Given the description of an element on the screen output the (x, y) to click on. 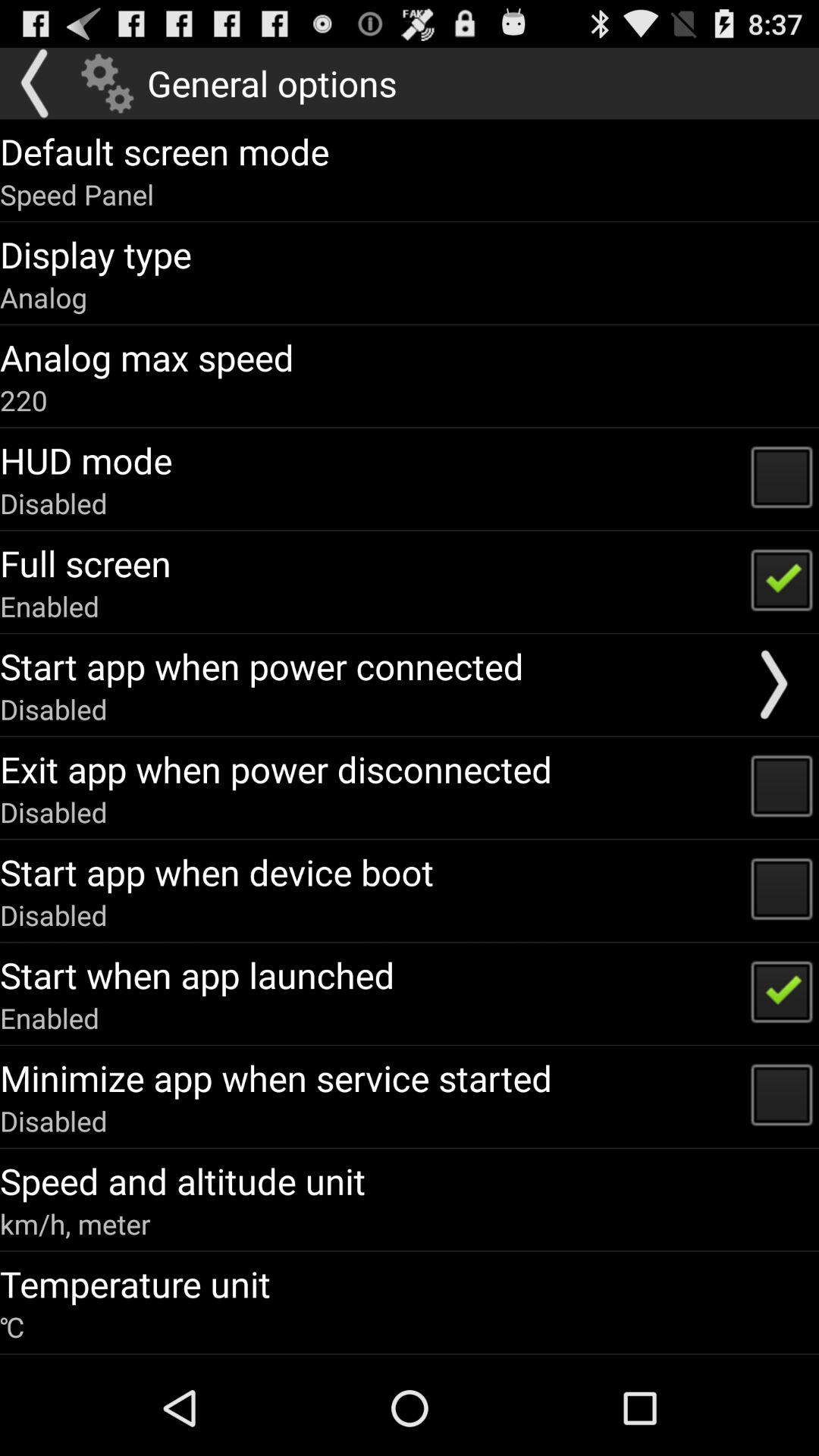
open the app above enabled item (85, 563)
